Given the description of an element on the screen output the (x, y) to click on. 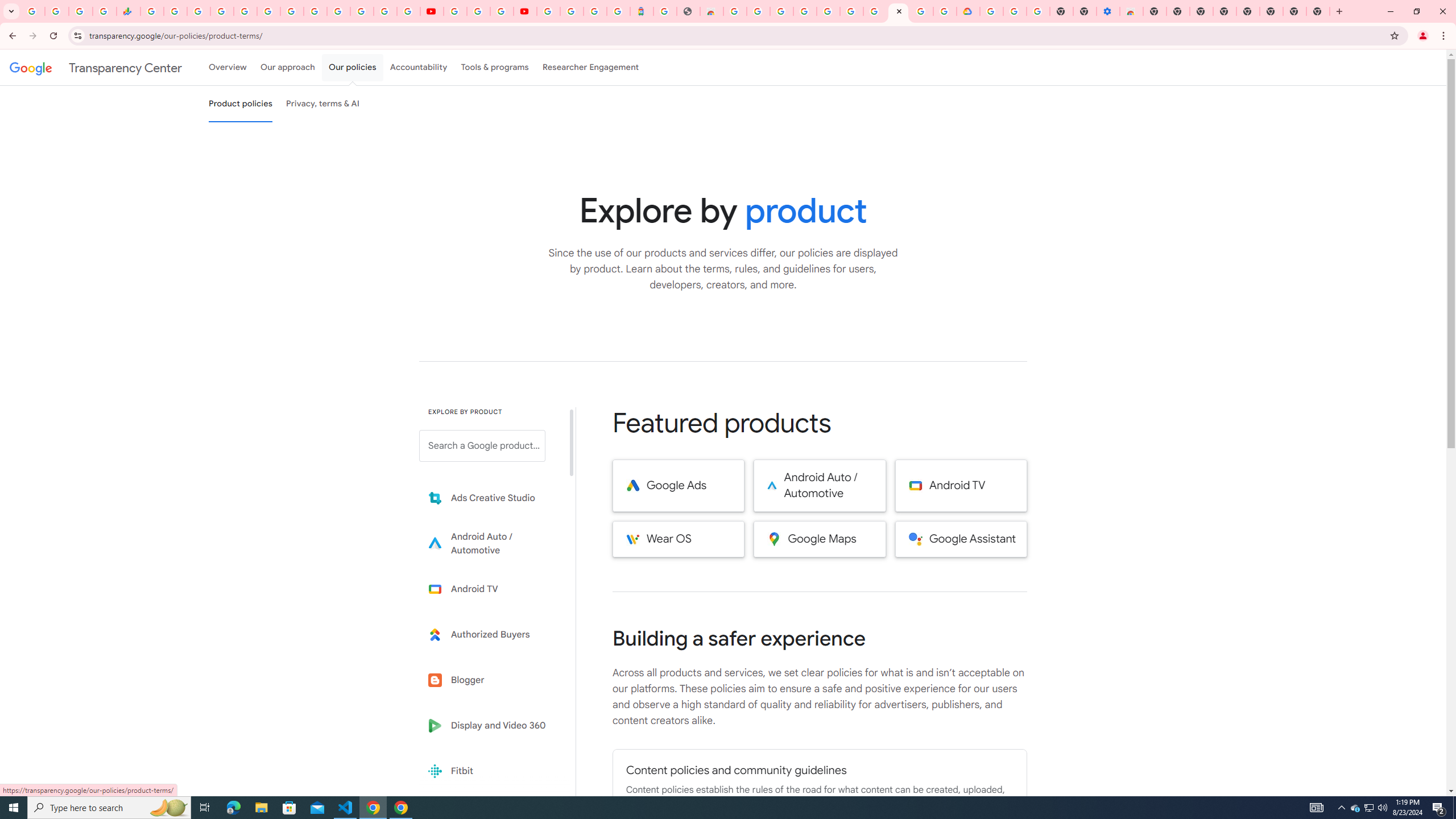
Google Assistant (960, 538)
Google Account Help (1015, 11)
